Given the description of an element on the screen output the (x, y) to click on. 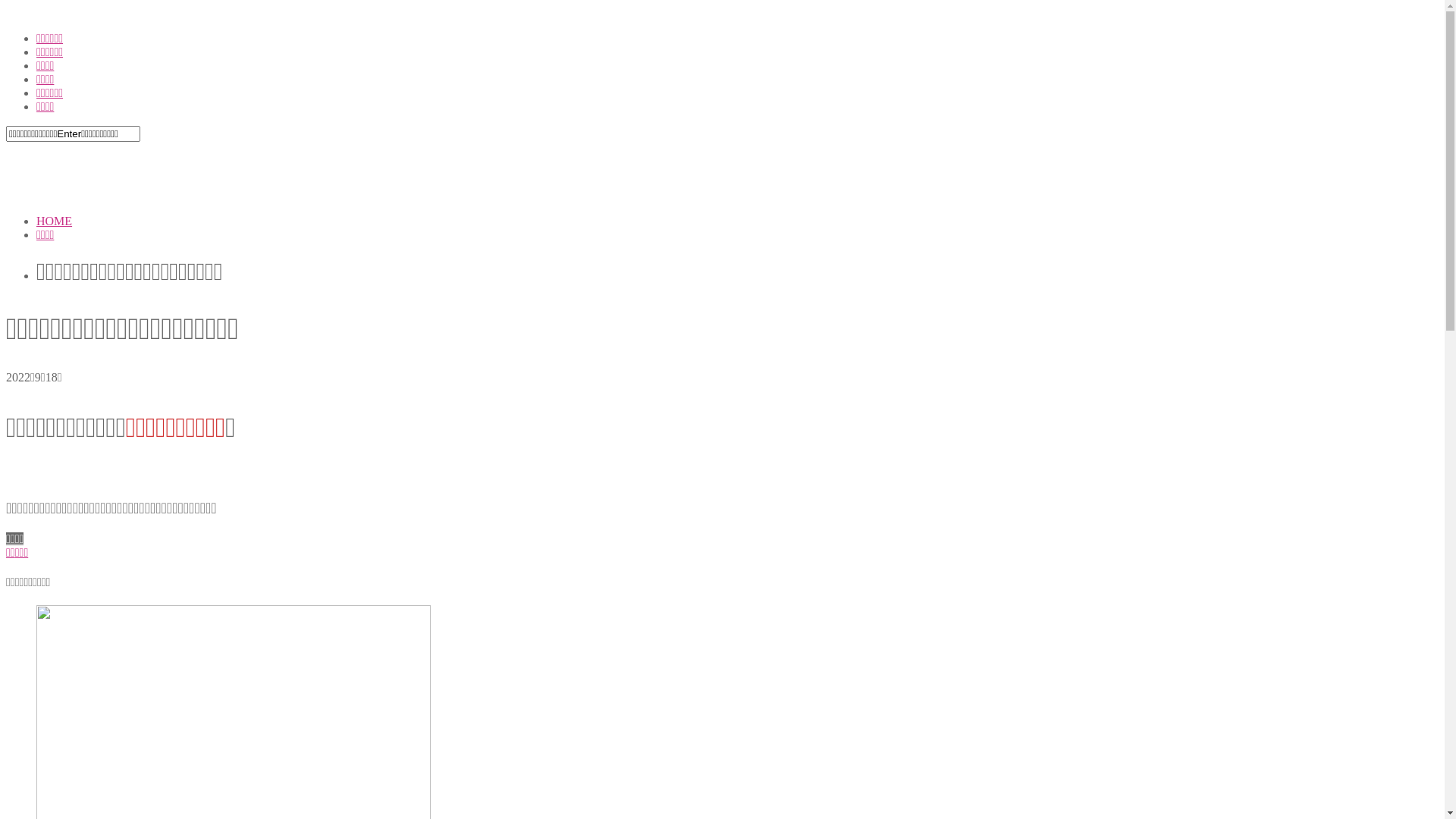
HOME Element type: text (54, 220)
